Given the description of an element on the screen output the (x, y) to click on. 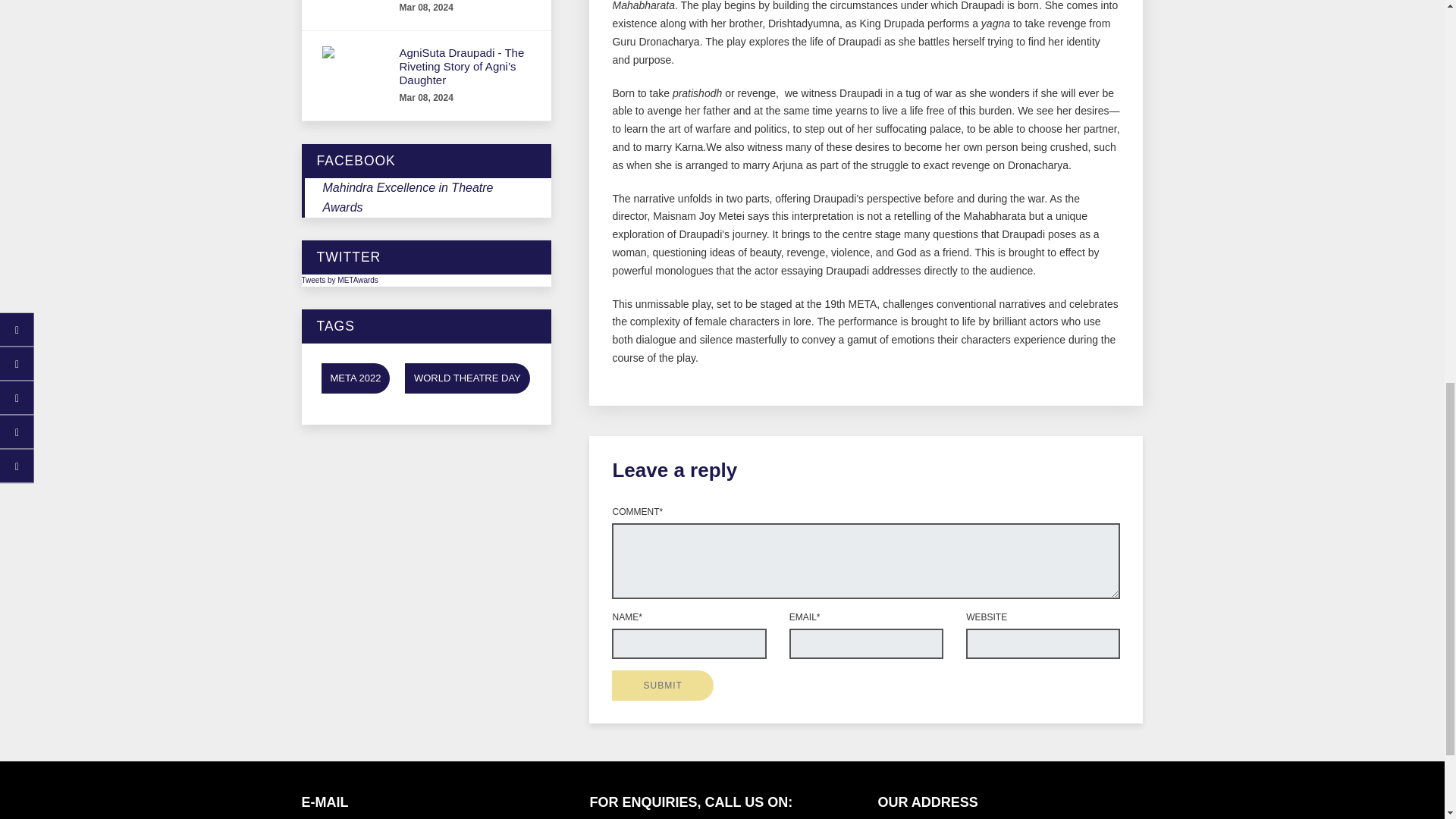
Tweets by METAwards (339, 280)
Mahindra Excellence in Theatre Awards (408, 196)
META 2022 (355, 377)
WORLD THEATRE DAY (466, 377)
SUBMIT (662, 685)
